Given the description of an element on the screen output the (x, y) to click on. 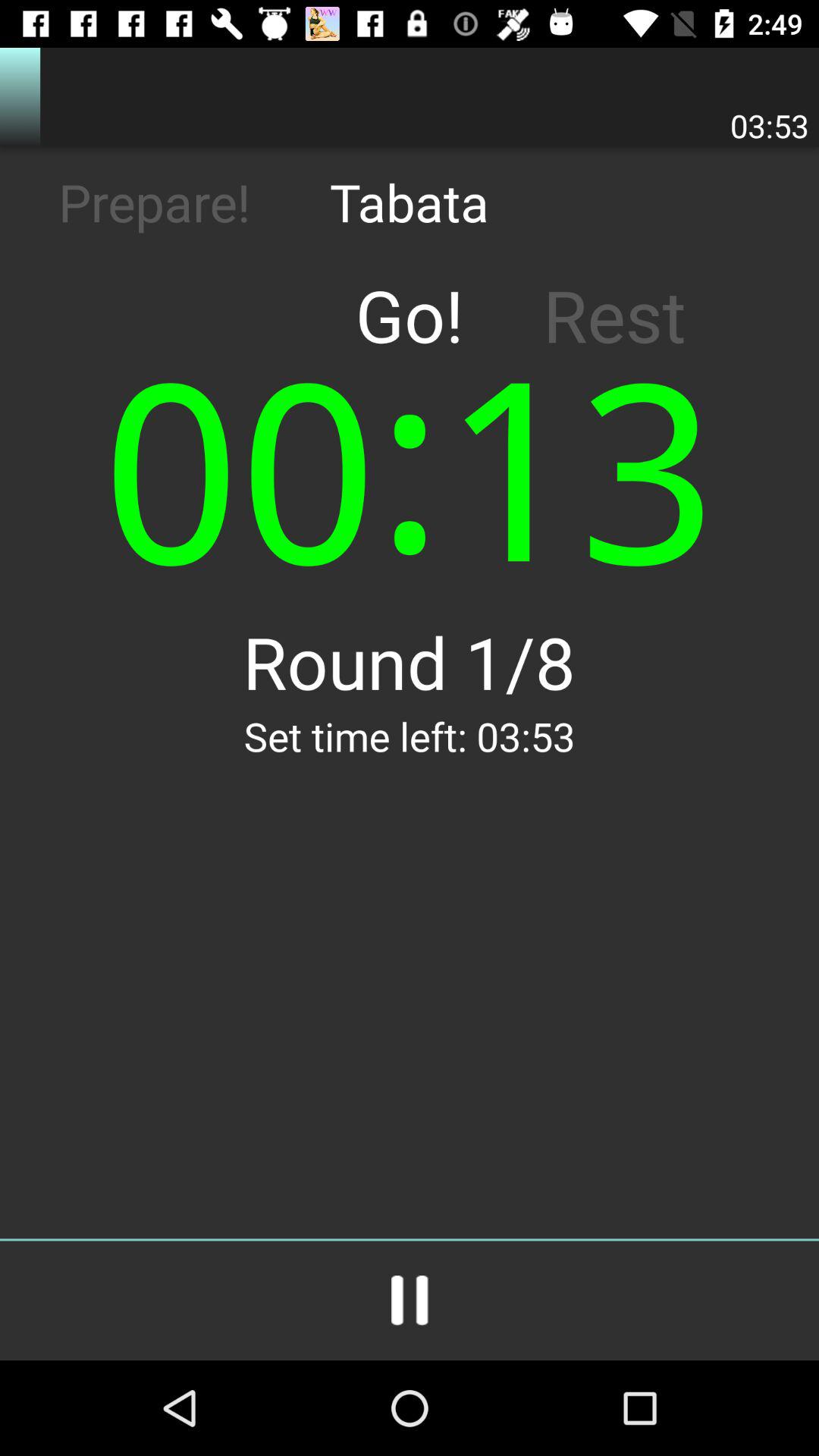
pause timer (409, 1300)
